Given the description of an element on the screen output the (x, y) to click on. 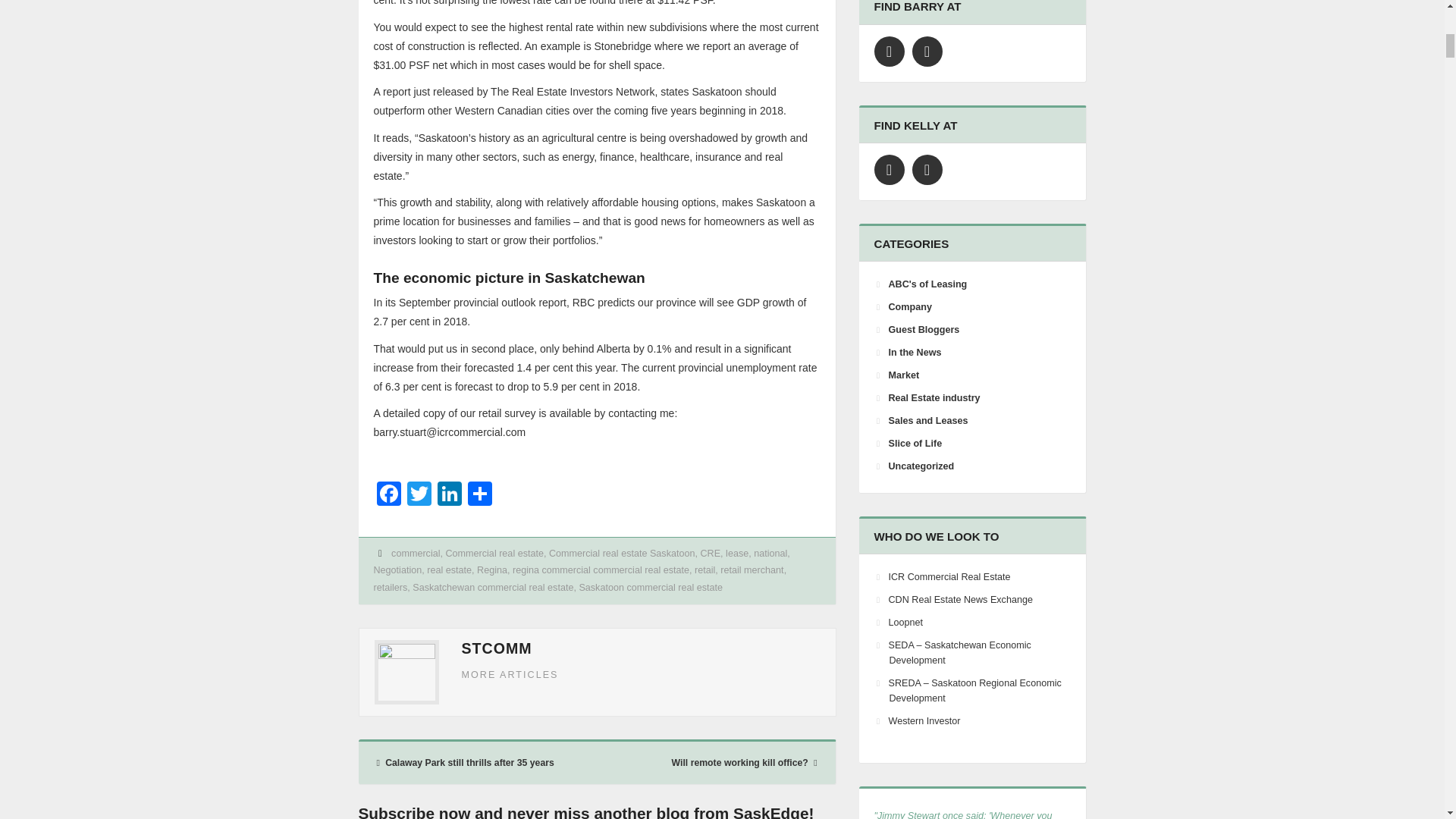
Commercial real estate Saskatoon (621, 552)
Will remote working kill office? (715, 762)
real estate (448, 570)
lease (736, 552)
regina commercial commercial real estate (600, 570)
Regina (491, 570)
Twitter (888, 51)
LinkedIn (448, 495)
LinkedIn (448, 495)
LinkedIn (926, 51)
